Given the description of an element on the screen output the (x, y) to click on. 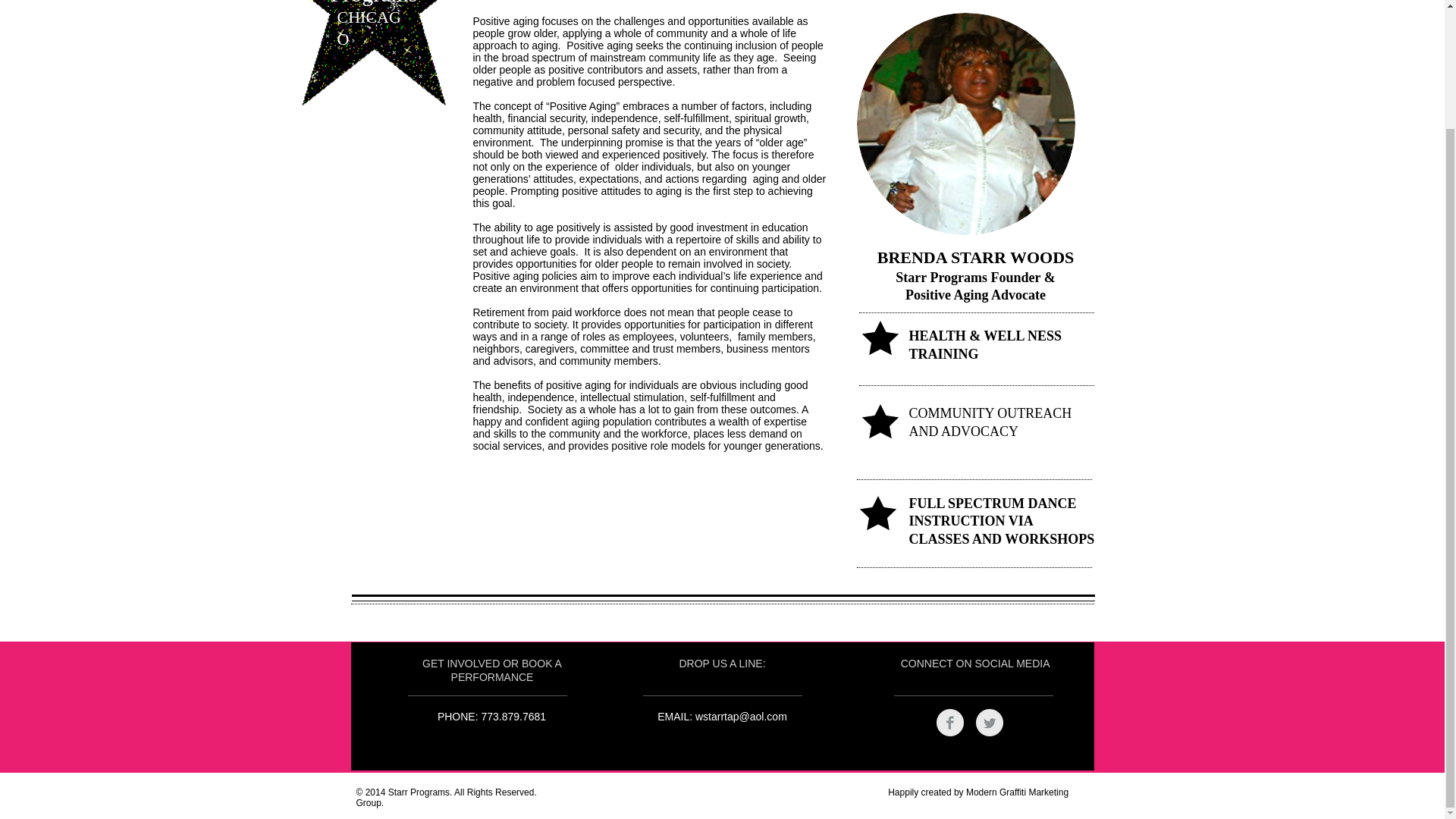
CHICAGO (368, 27)
Programs (373, 2)
